Given the description of an element on the screen output the (x, y) to click on. 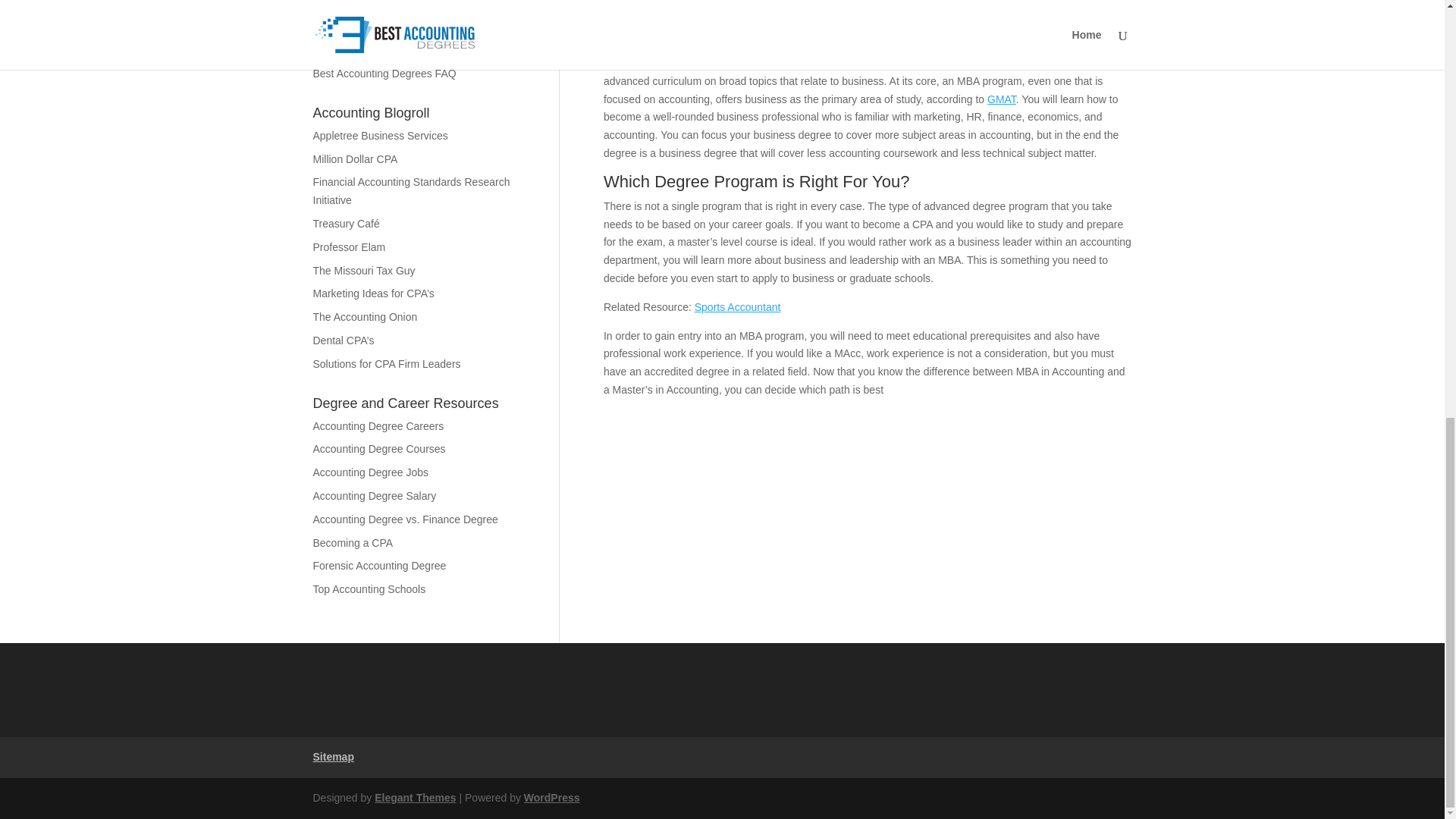
Accounting Degree Courses (379, 449)
Accounting Degree vs. Finance Degree (405, 519)
Million Dollar CPA (355, 159)
Best Accounting Degrees FAQ (384, 73)
WordPress (551, 797)
Forensic Accounting Degree (379, 565)
Sports Accountant (737, 306)
Accounting Degree Jobs (370, 472)
The Accounting Onion (364, 316)
Becoming a CPA (353, 541)
Solutions for CPA Firm Leaders (386, 363)
GMAT (1001, 99)
Professor Elam (349, 246)
Accounting Degree Salary (374, 495)
Accounting Degree Careers (378, 426)
